Given the description of an element on the screen output the (x, y) to click on. 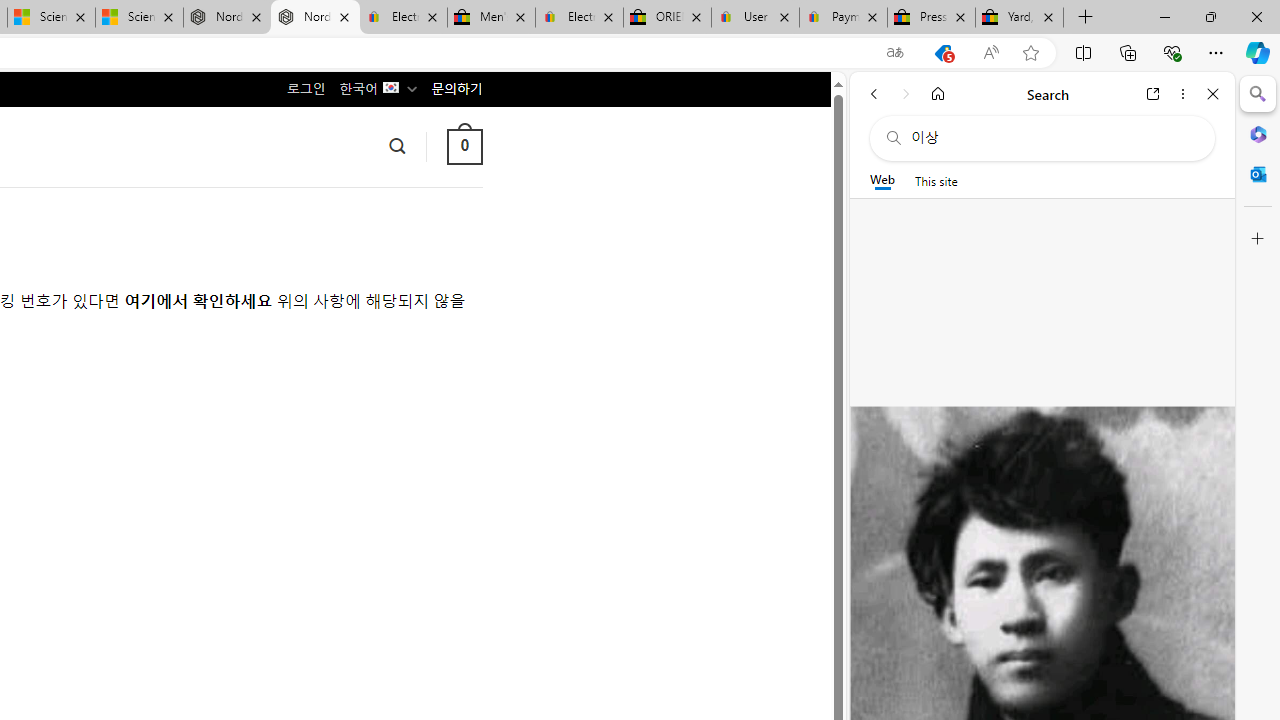
This site has coupons! Shopping in Microsoft Edge, 5 (943, 53)
Yard, Garden & Outdoor Living (1019, 17)
Press Room - eBay Inc. (931, 17)
 0  (464, 146)
Search the web (1051, 137)
  0   (464, 146)
